Given the description of an element on the screen output the (x, y) to click on. 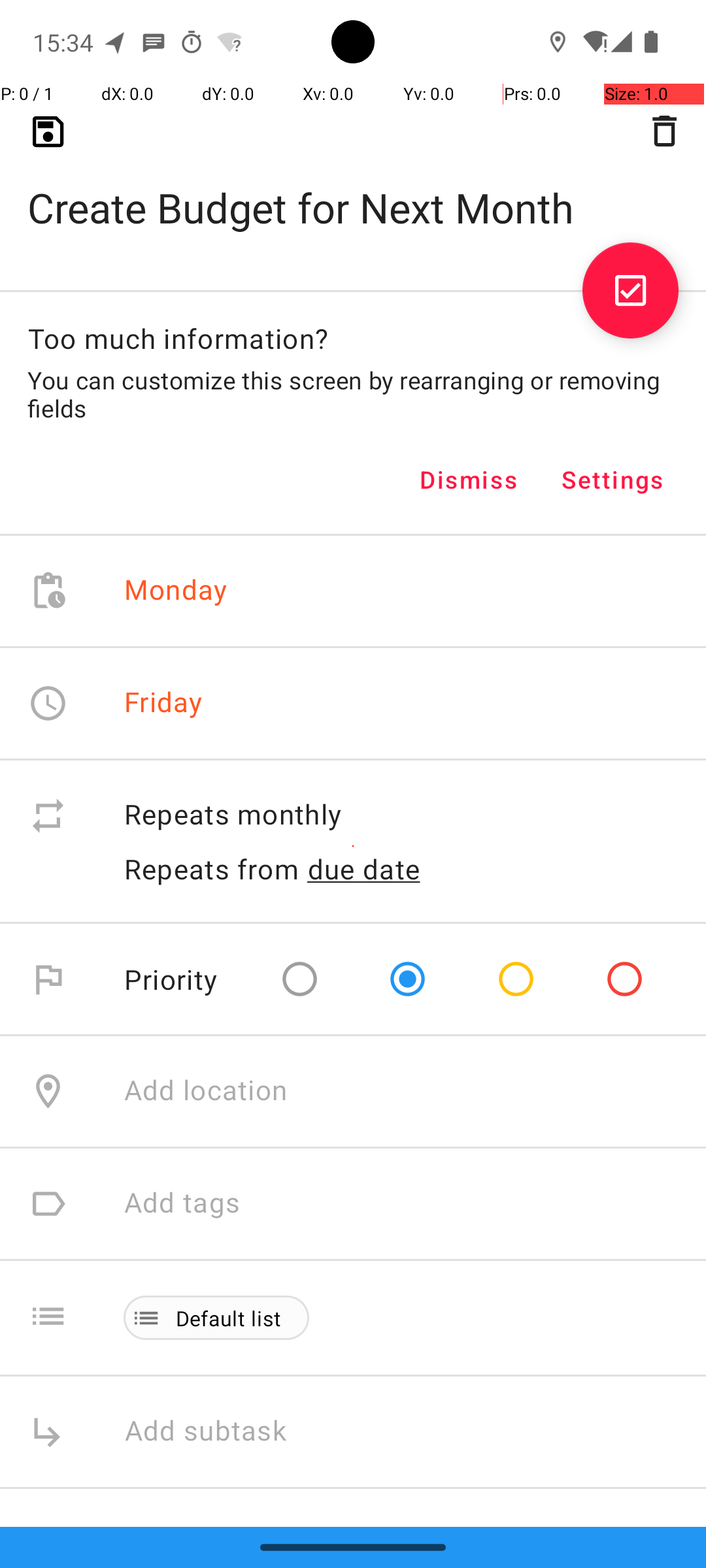
Repeats monthly Element type: android.widget.TextView (400, 815)
due date Element type: android.widget.TextView (363, 868)
